Given the description of an element on the screen output the (x, y) to click on. 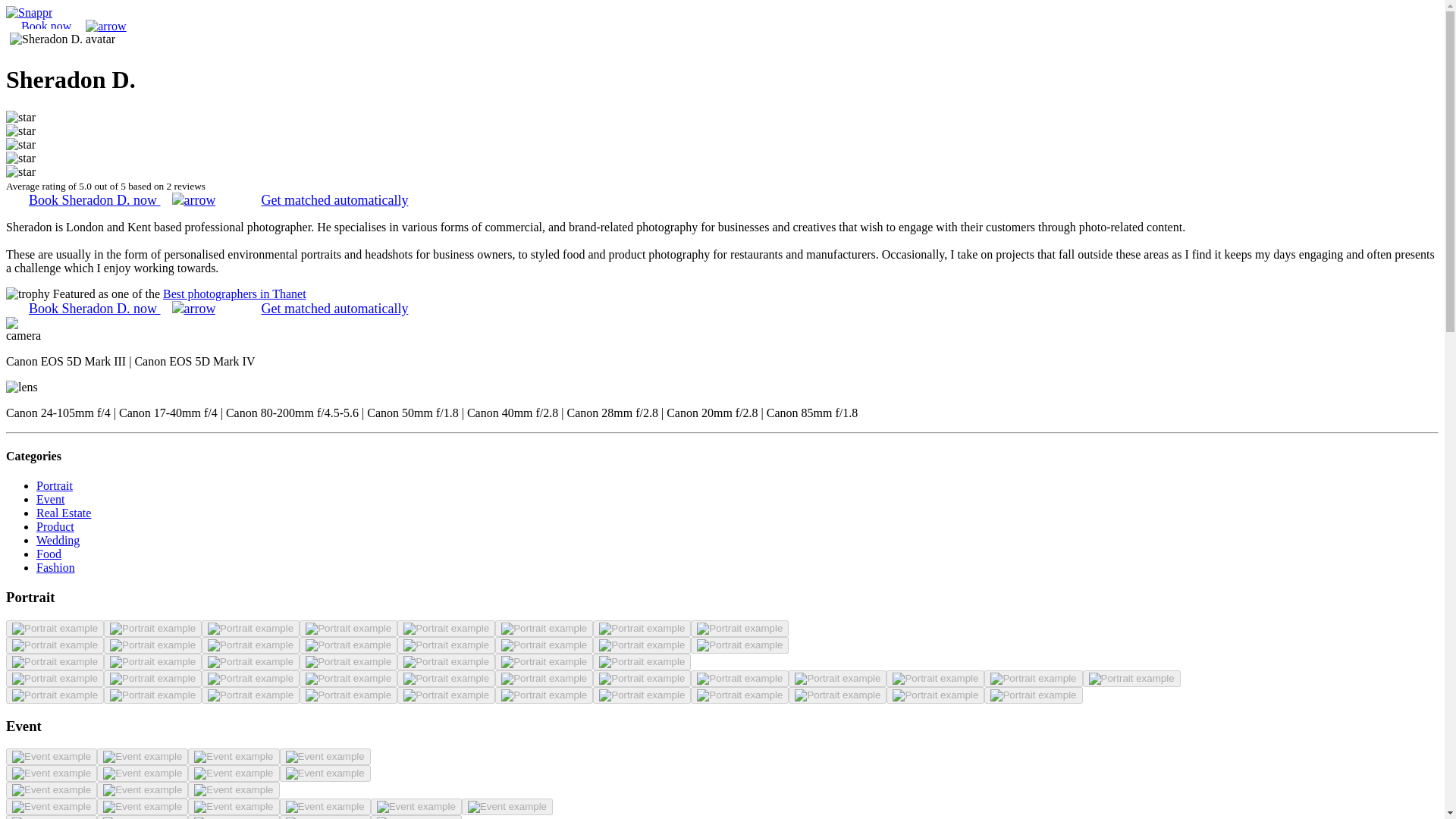
Best photographers in Thanet (234, 293)
Food (48, 553)
Book now (73, 25)
Portrait (54, 485)
Book Sheradon D. now (121, 308)
Fashion (55, 567)
Product (55, 526)
Event (50, 499)
Get matched automatically (334, 308)
Real Estate (63, 512)
